Given the description of an element on the screen output the (x, y) to click on. 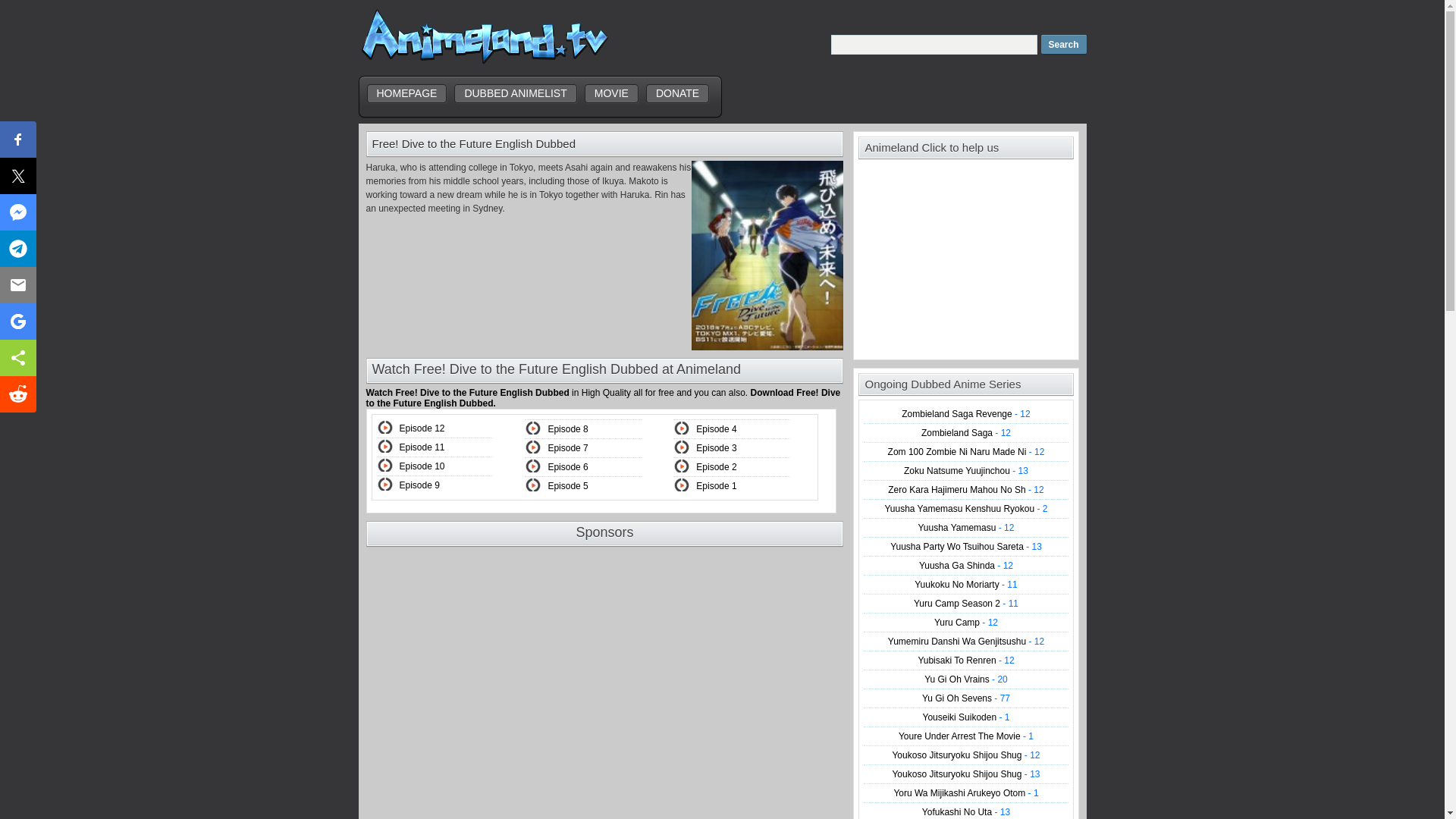
Yuusha Yamemasu - 12 (965, 527)
Yuru Camp Season 2 - 11 (965, 603)
Yubisaki To Renren - 12 (965, 660)
Yubisaki To Renren (965, 660)
Yuusha Yamemasu (965, 527)
Zoku Natsume Yuujinchou (965, 470)
Yumemiru Danshi Wa Genjitsushu - 12 (965, 641)
Yu Gi Oh Vrains - 20 (965, 679)
Zom 100 Zombie Ni Naru Made Ni - 12 (966, 451)
Zombieland Saga - 12 (965, 432)
MOVIE (612, 93)
Yu Gi Oh Sevens - 77 (965, 697)
DUBBED ANIMELIST (515, 93)
donate (677, 93)
Episode 10 (421, 466)
